Given the description of an element on the screen output the (x, y) to click on. 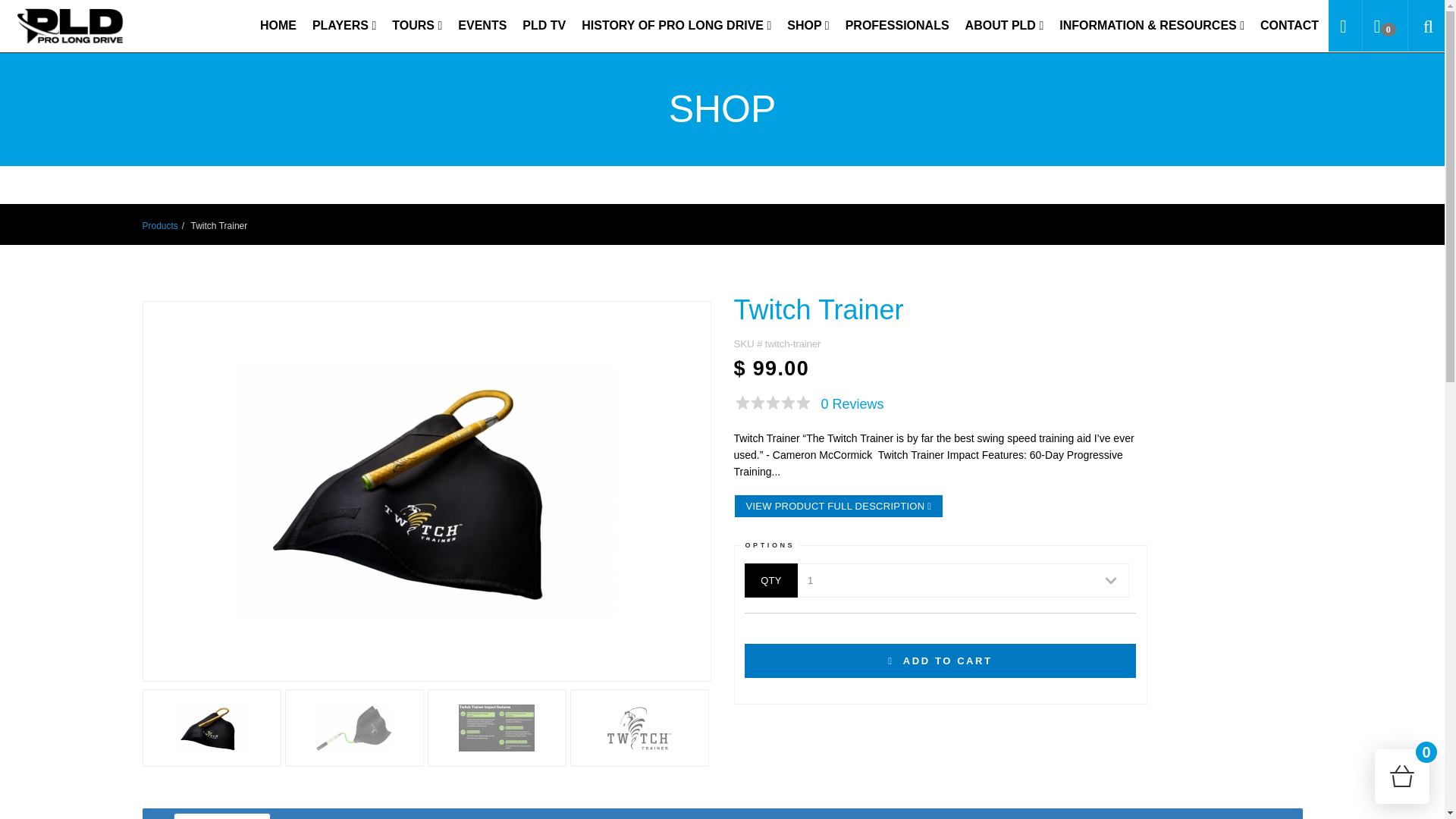
0 (1384, 25)
HISTORY OF PRO LONG DRIVE (676, 25)
PLD TV (544, 25)
View Full Product Description (838, 505)
PLAYERS (343, 25)
ABOUT PLD (1004, 25)
TOURS (416, 25)
SHOP (807, 25)
PROFESSIONALS (897, 25)
VIEW PRODUCT FULL DESCRIPTION (838, 505)
HOME (277, 25)
CONTACT (1288, 25)
EVENTS (481, 25)
